Given the description of an element on the screen output the (x, y) to click on. 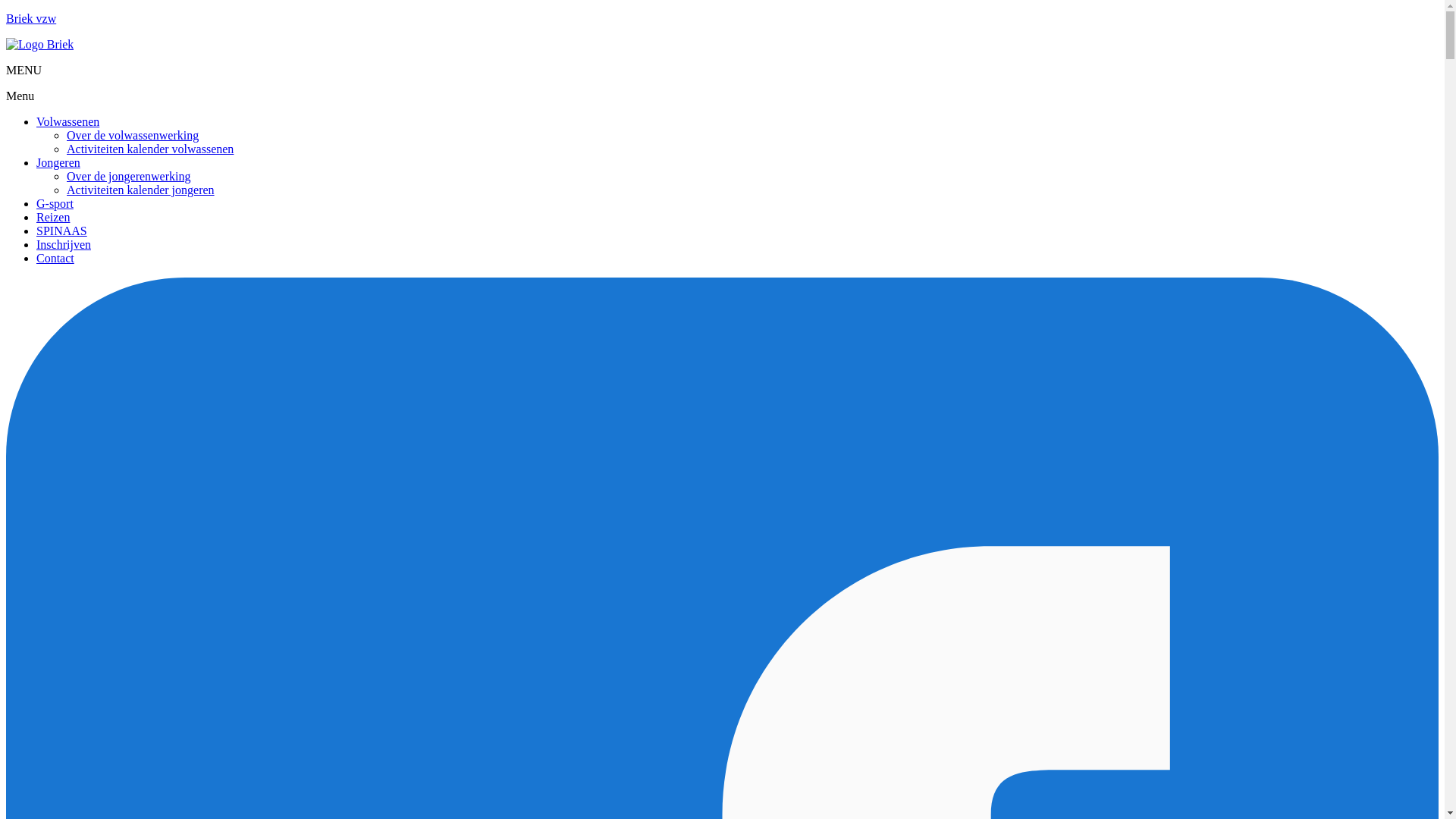
Activiteiten kalender volwassenen Element type: text (149, 148)
Over de volwassenwerking Element type: text (132, 134)
Jongeren Element type: text (58, 162)
Volwassenen Element type: text (67, 121)
SPINAAS Element type: text (61, 230)
Reizen Element type: text (52, 216)
G-sport Element type: text (54, 203)
Over de jongerenwerking Element type: text (128, 175)
Inschrijven Element type: text (63, 244)
Activiteiten kalender jongeren Element type: text (140, 189)
Briek vzw Element type: text (31, 18)
Contact Element type: text (55, 257)
